Given the description of an element on the screen output the (x, y) to click on. 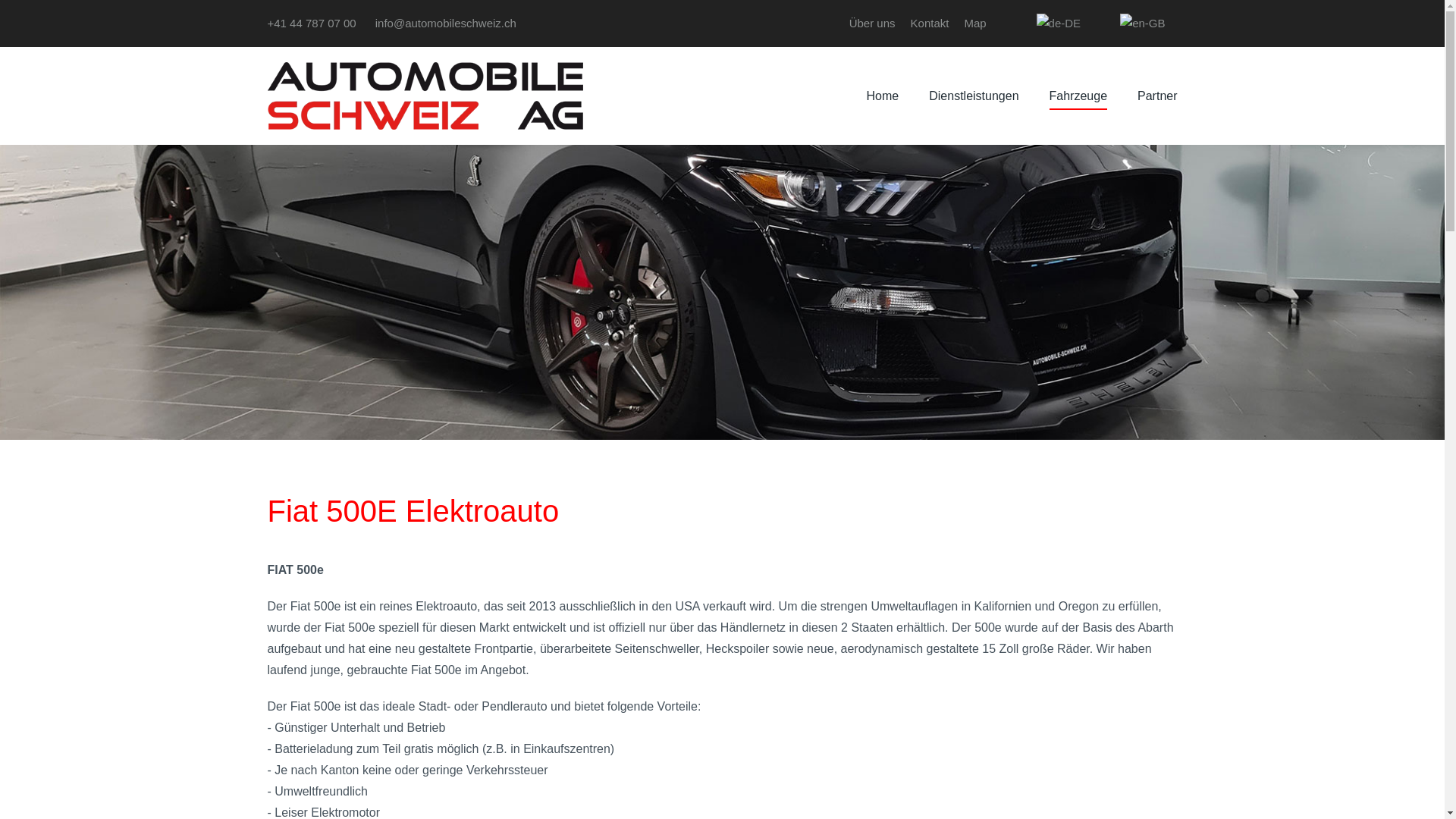
Fahrzeuge Element type: text (1078, 95)
Partner Element type: text (1156, 95)
en-GB Element type: hover (1142, 23)
de-DE Element type: hover (1058, 23)
Kontakt Element type: text (929, 23)
Home Element type: text (882, 95)
+41 44 787 07 00 Element type: text (310, 22)
info@automobileschweiz.ch Element type: text (445, 22)
Map Element type: text (974, 23)
Dienstleistungen Element type: text (973, 95)
